Given the description of an element on the screen output the (x, y) to click on. 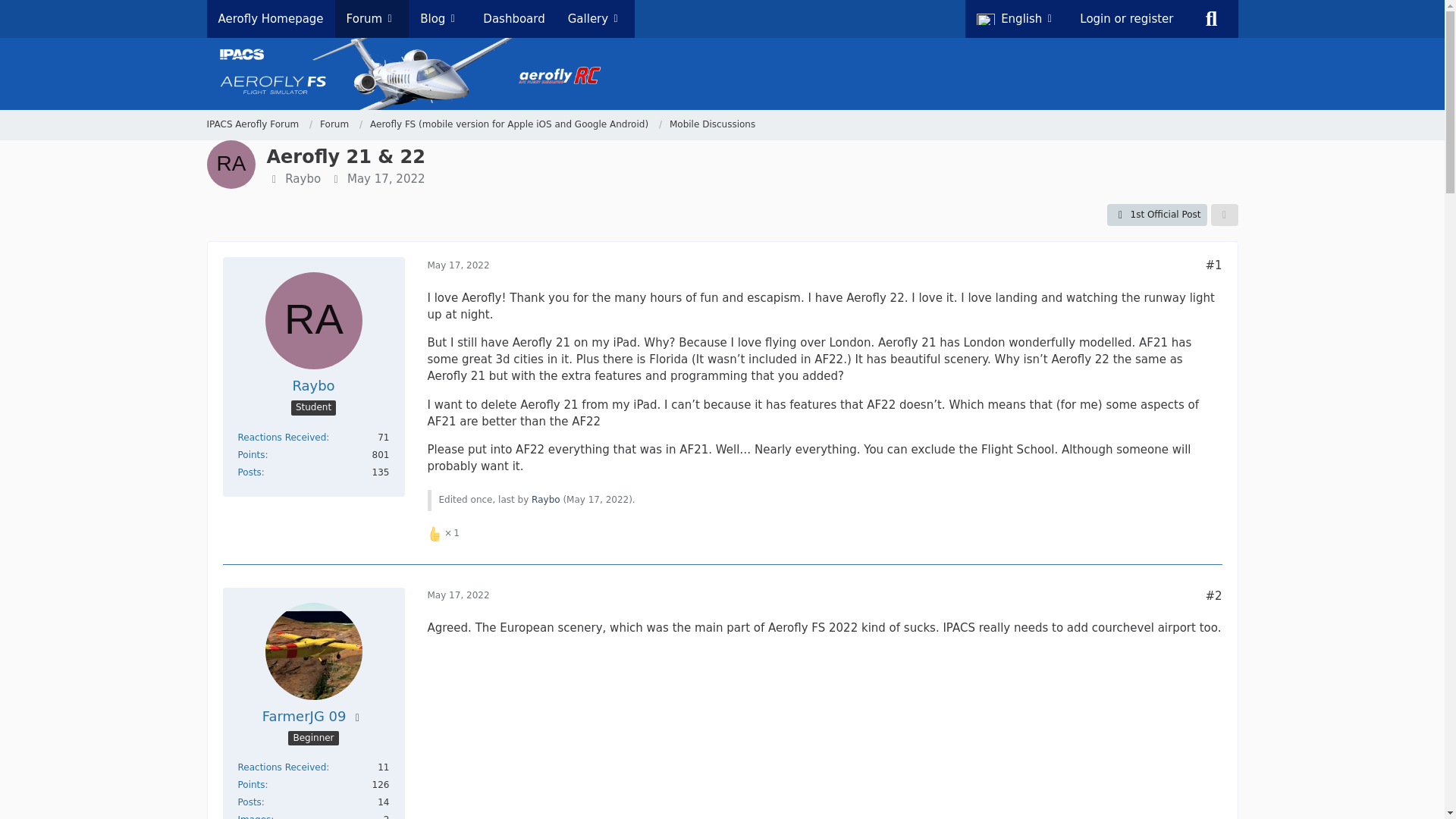
Posts (250, 471)
Raybo (545, 499)
Mobile Discussions (712, 124)
Raybo (302, 178)
IPACS Aerofly Forum (252, 124)
IPACS Aerofly Forum (259, 124)
Forum (341, 124)
Dashboard (513, 18)
Forum (334, 124)
Reactions Received (282, 437)
Login or register (1126, 18)
Raybo (313, 384)
Aerofly Homepage (270, 18)
